Given the description of an element on the screen output the (x, y) to click on. 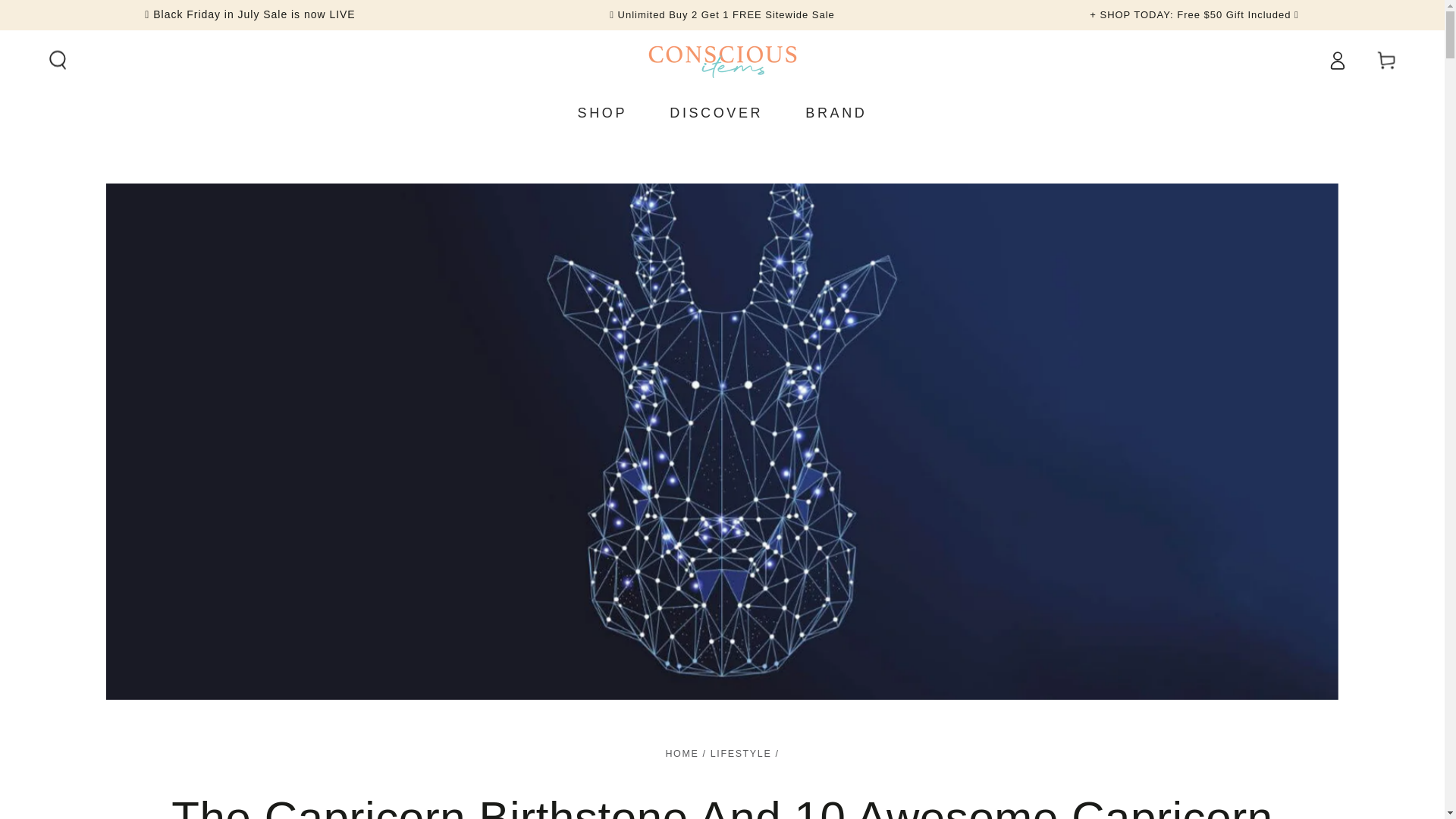
SKIP TO CONTENT (85, 18)
Back to the frontpage (681, 753)
